Given the description of an element on the screen output the (x, y) to click on. 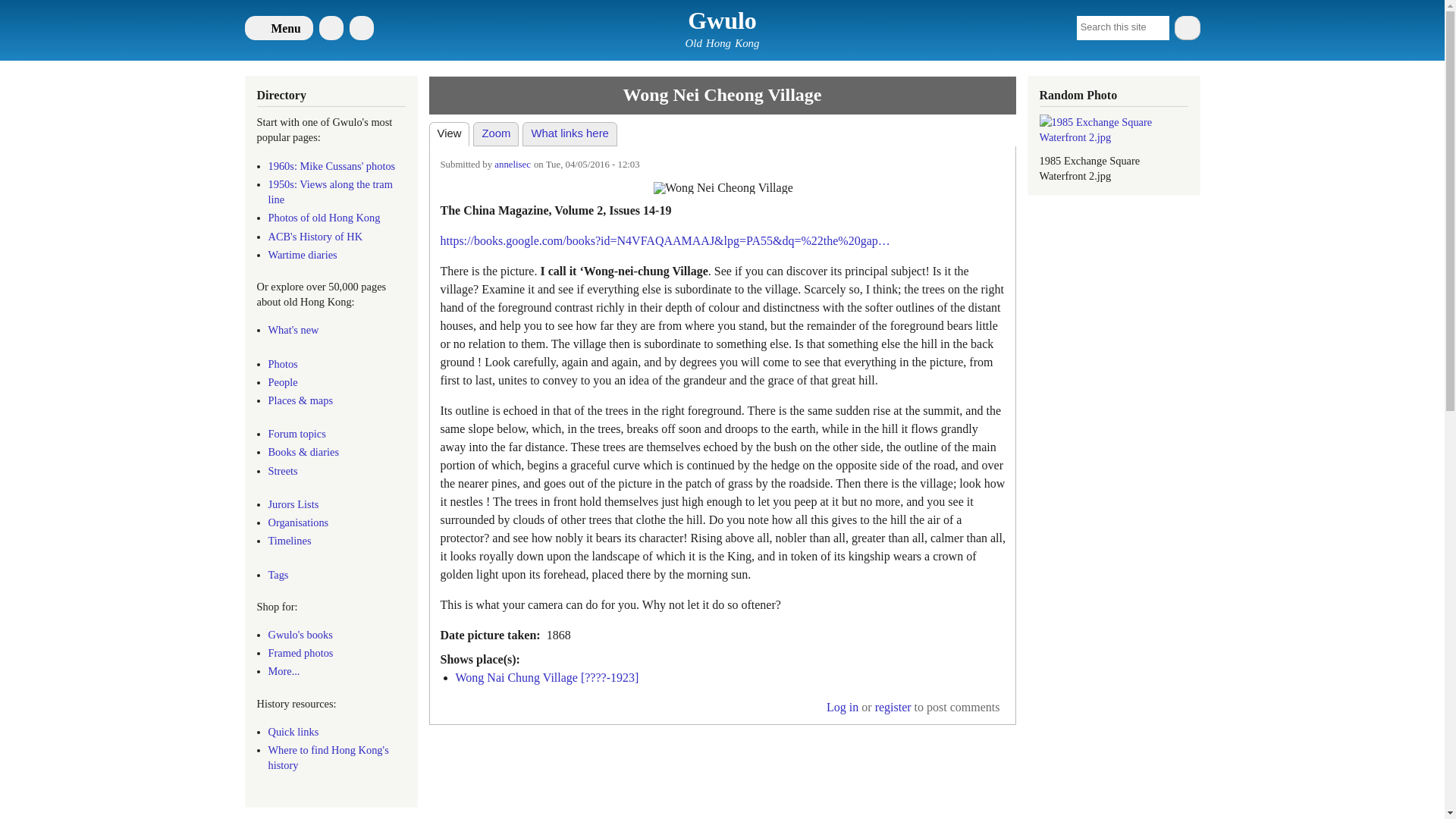
Photos of old Hong Kong (323, 217)
Search (1186, 27)
Zoom (495, 134)
1950s: Views along the tram line (330, 191)
People (282, 381)
Streets (282, 470)
1985 Exchange Square Waterfront 2.jpg (1113, 129)
older (722, 183)
annelisec (513, 163)
ACB's History of HK (314, 236)
